Given the description of an element on the screen output the (x, y) to click on. 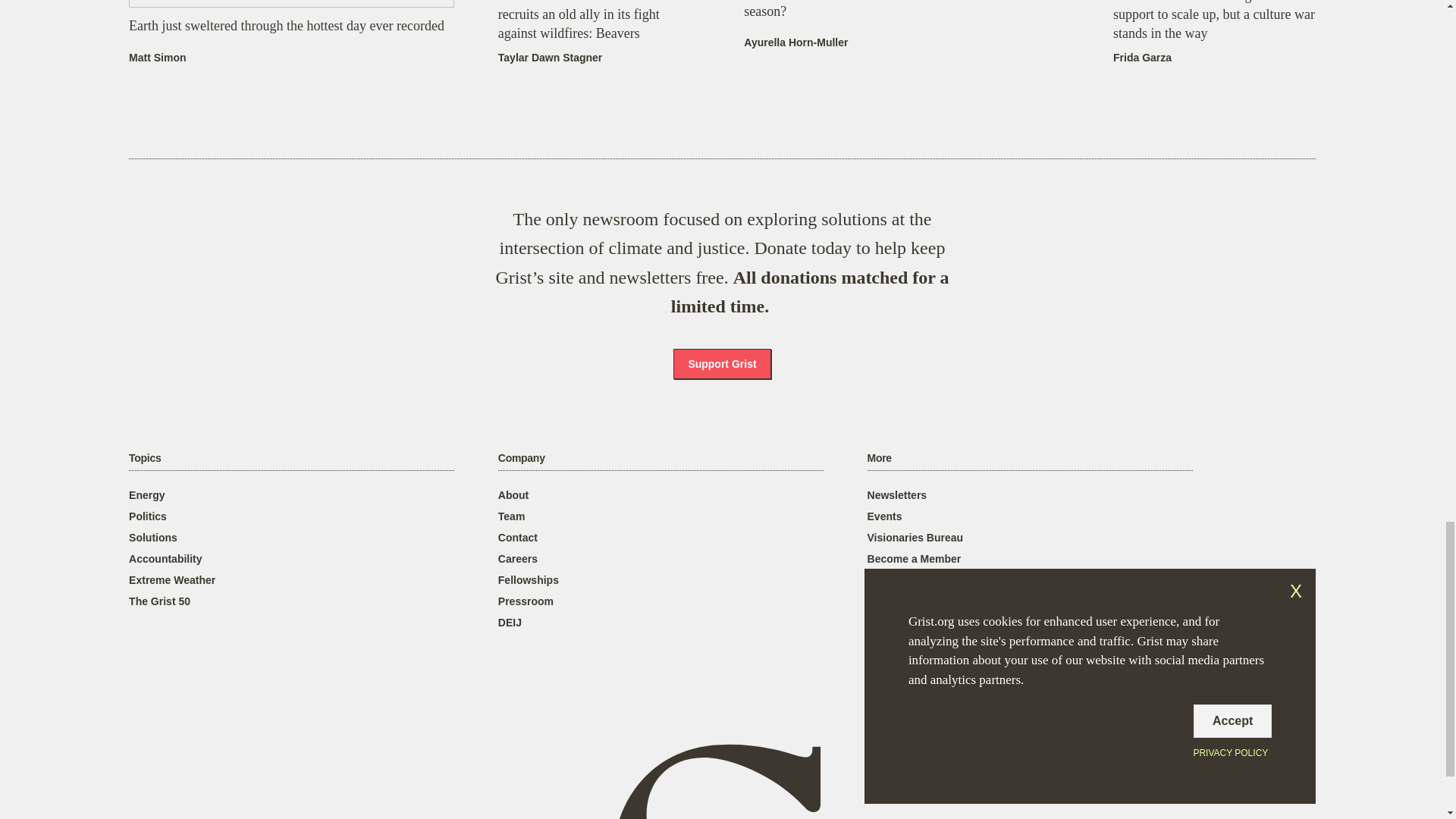
Topics (144, 458)
More (879, 458)
Company (520, 458)
